Given the description of an element on the screen output the (x, y) to click on. 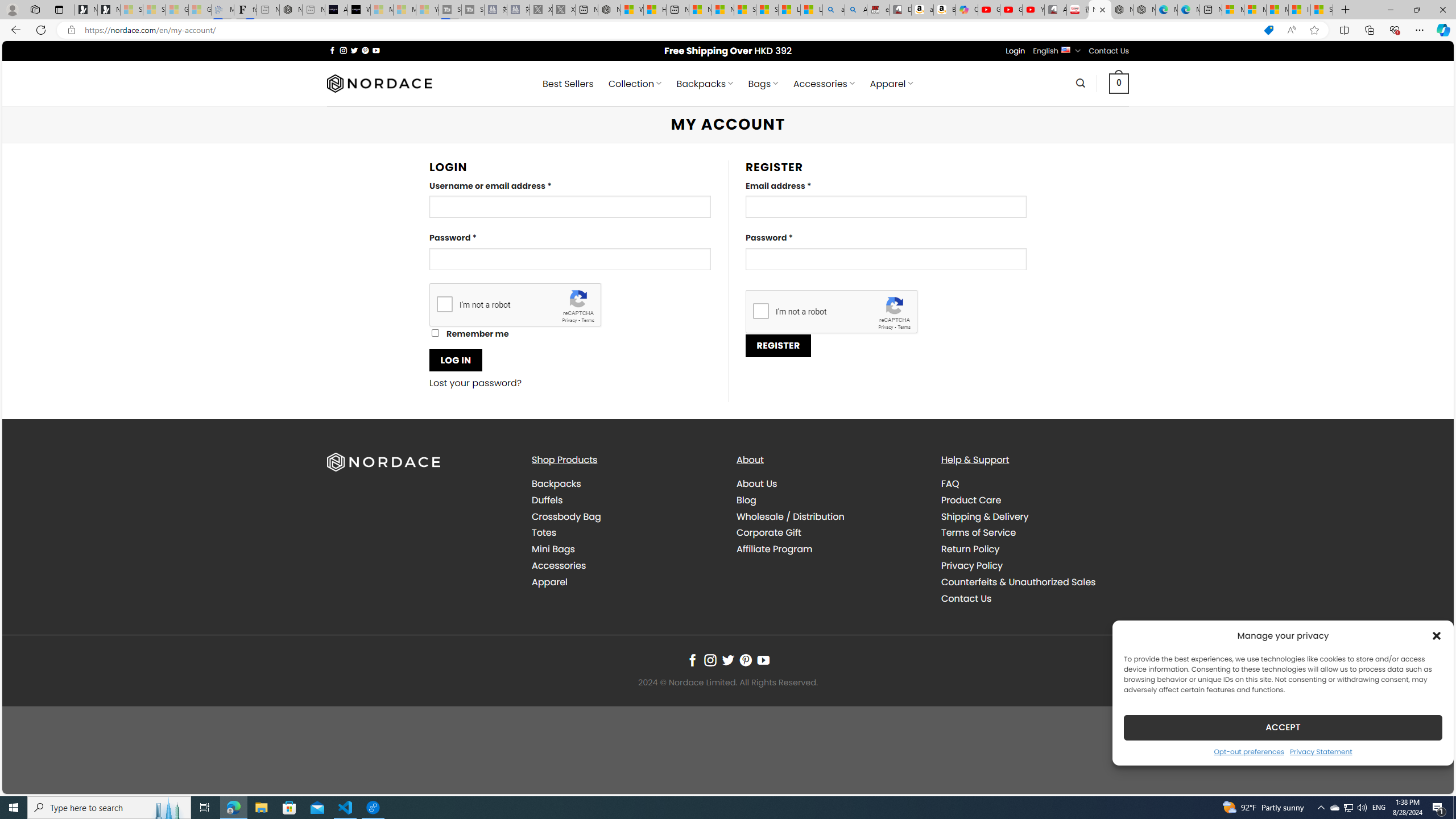
Accessories (558, 565)
Microsoft Start Sports - Sleeping (381, 9)
amazon.in/dp/B0CX59H5W7/?tag=gsmcom05-21 (923, 9)
Return Policy (1034, 549)
